Given the description of an element on the screen output the (x, y) to click on. 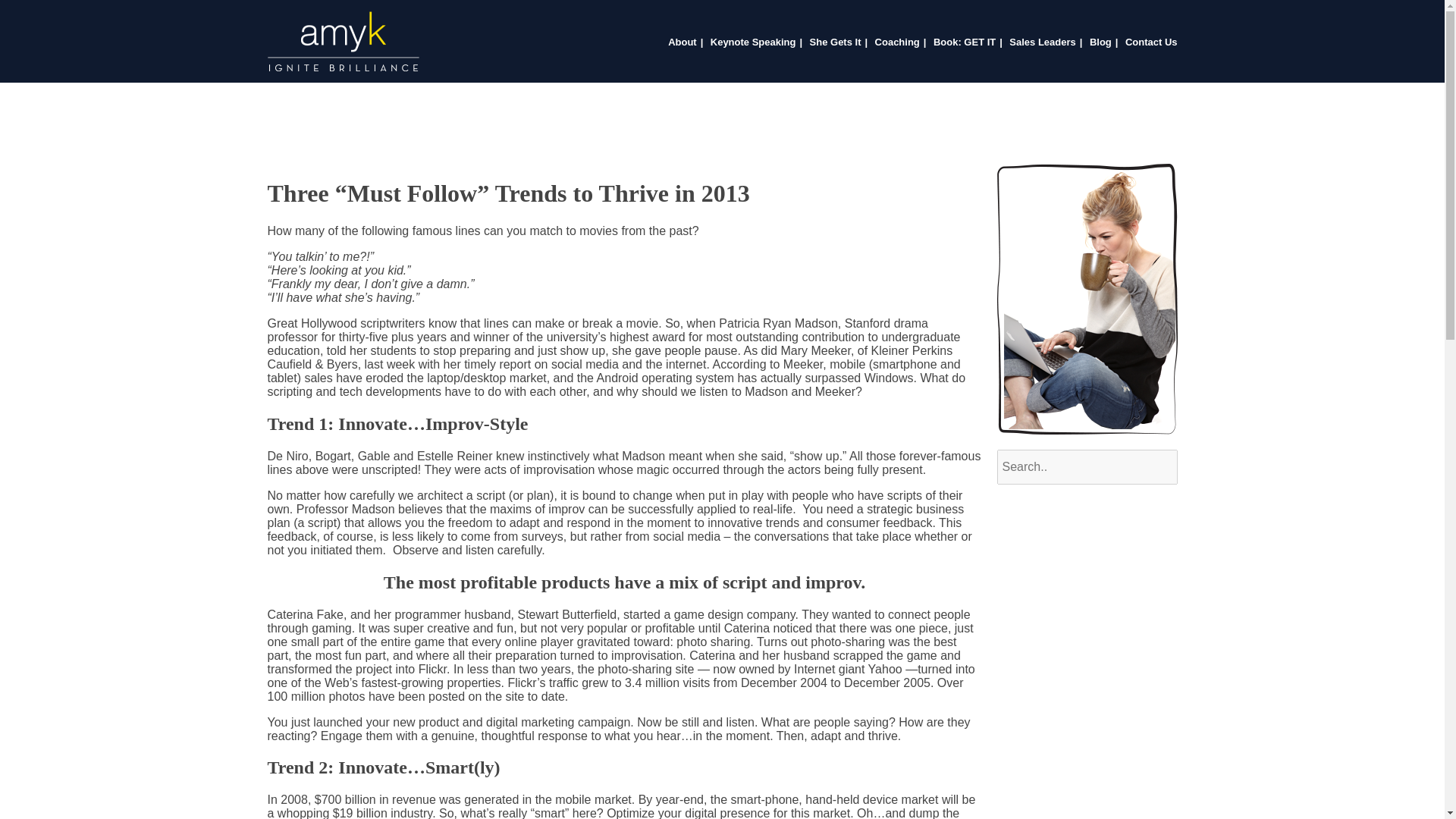
Coaching (897, 41)
Sales Leaders (1042, 41)
Contact Us (1151, 41)
Keynote Speaking (753, 41)
About (682, 41)
She Gets It (835, 41)
Book: GET IT (964, 41)
Blog (1100, 41)
